Given the description of an element on the screen output the (x, y) to click on. 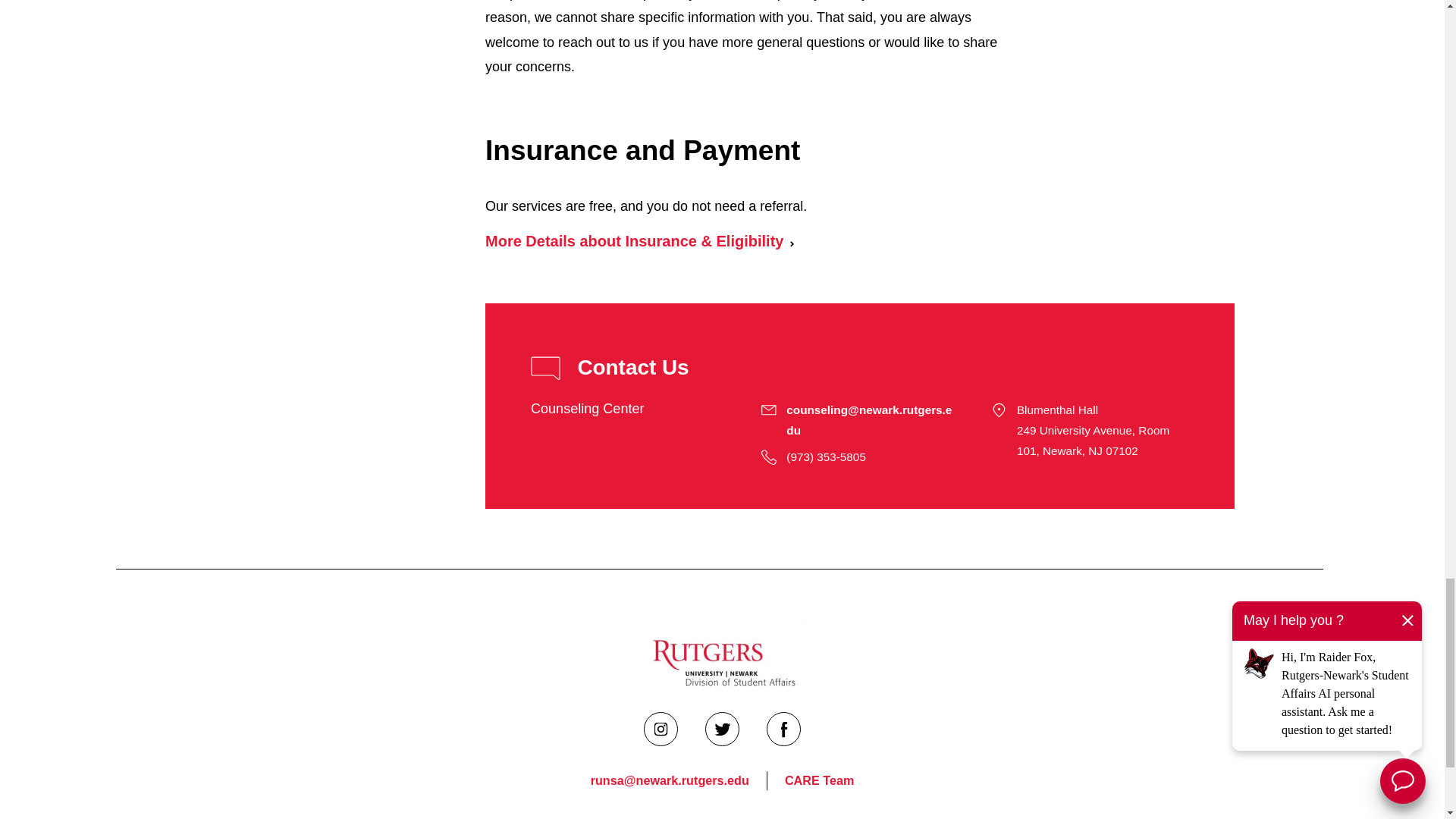
CARE Team (818, 780)
